Given the description of an element on the screen output the (x, y) to click on. 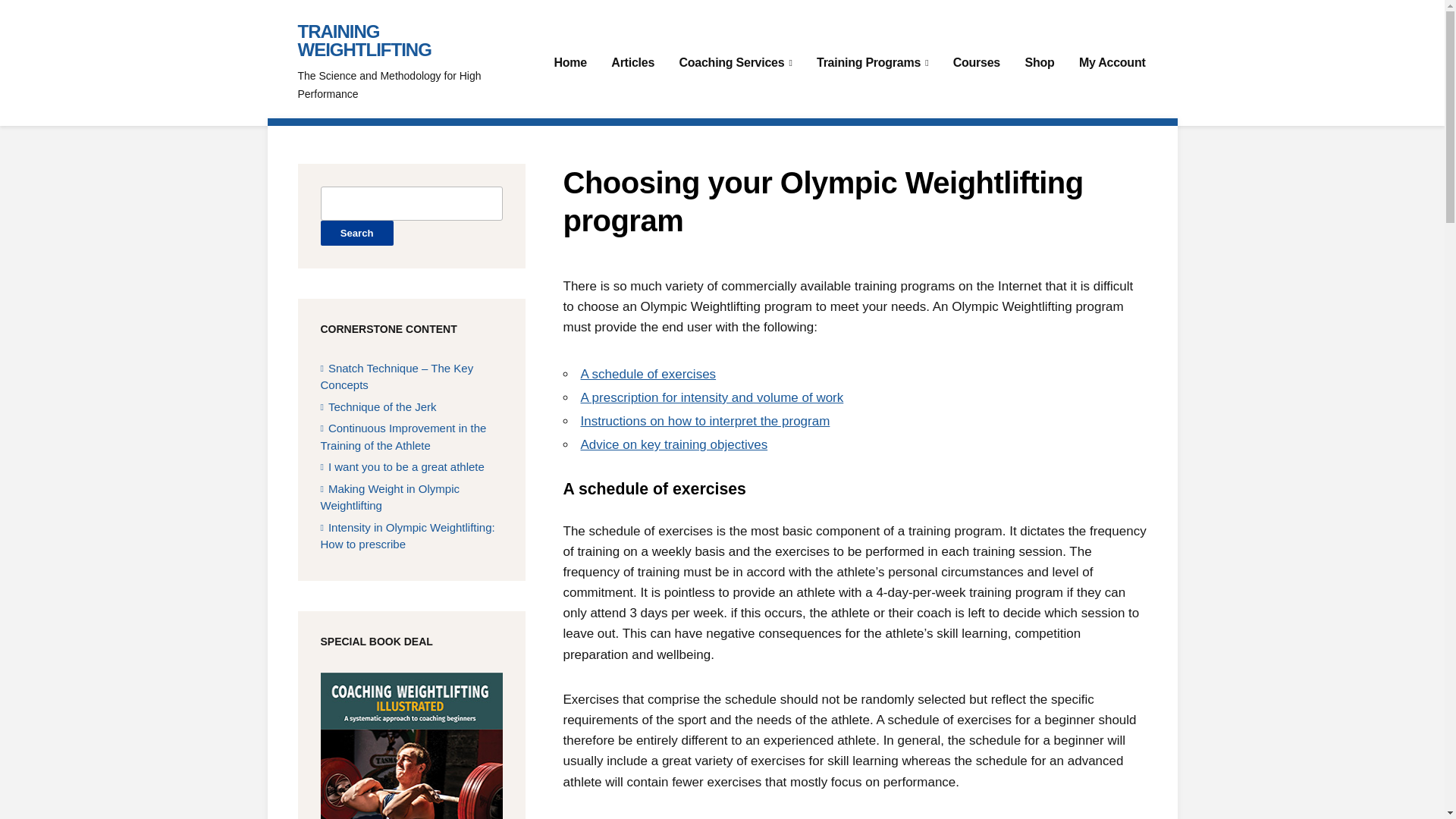
A schedule of exercises (648, 373)
Training Programs (872, 62)
Advice on key training objectives (674, 444)
Search (356, 232)
Home (569, 62)
TRAINING WEIGHTLIFTING (363, 40)
Instructions on how to interpret the program (704, 421)
Coaching Services (735, 62)
A prescription for intensity and volume of work (712, 397)
More information (411, 803)
Articles (633, 62)
My Account (1112, 62)
Courses (976, 62)
